Given the description of an element on the screen output the (x, y) to click on. 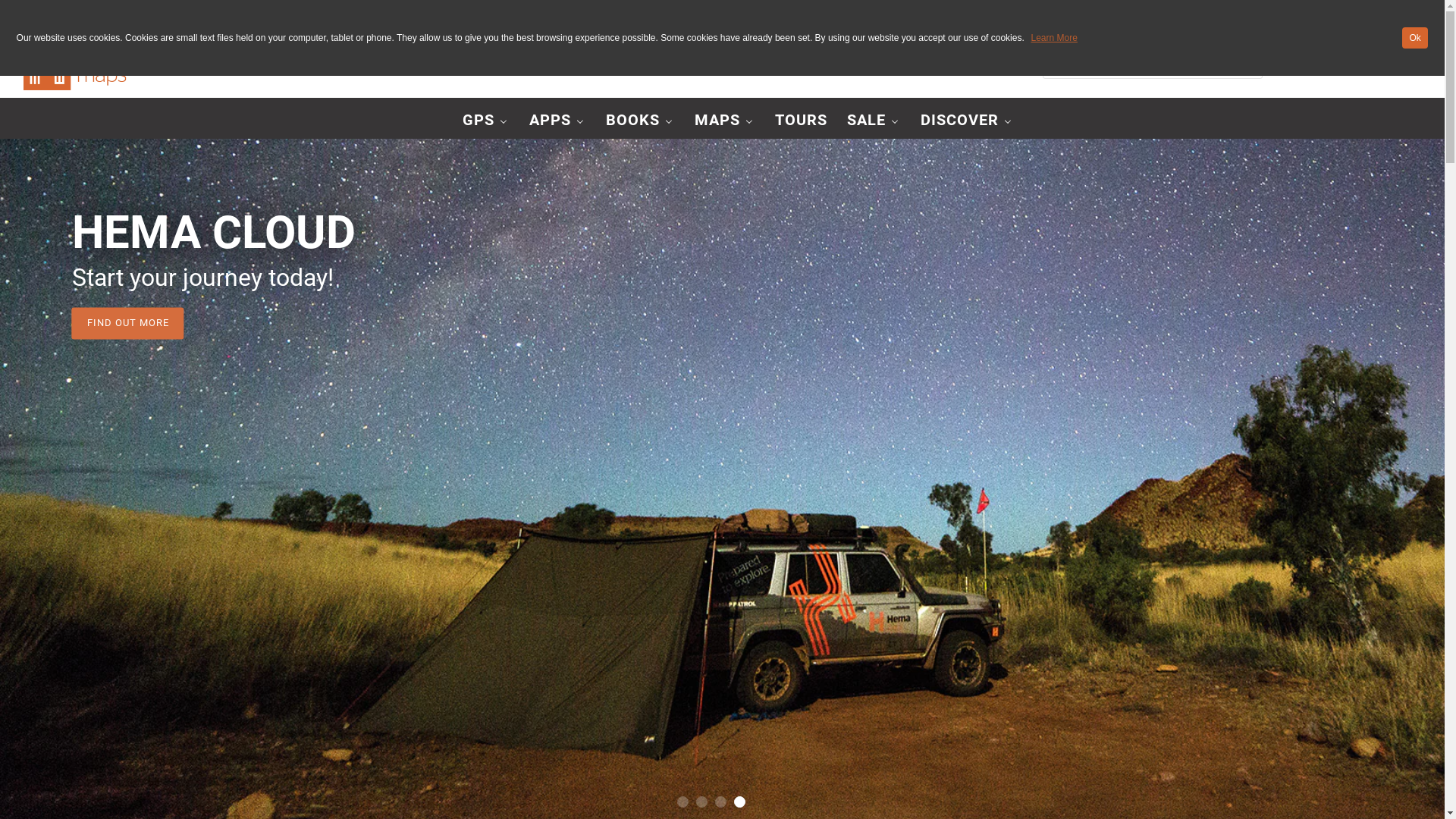
ACCOUNT Element type: text (1310, 63)
Hema Cloud Element type: text (1341, 14)
Support Element type: text (1400, 14)
SALE Element type: text (873, 119)
TOURS Element type: text (800, 119)
LATEST PRODUCTS Element type: text (113, 322)
Learn More Element type: text (1054, 38)
MAPS Element type: text (724, 119)
DISCOVER Element type: text (966, 119)
BOOKS Element type: text (639, 119)
Deny Element type: hover (1397, 37)
APPS Element type: text (556, 119)
MY CART 0 Element type: text (1384, 63)
GPS Element type: text (484, 119)
